Given the description of an element on the screen output the (x, y) to click on. 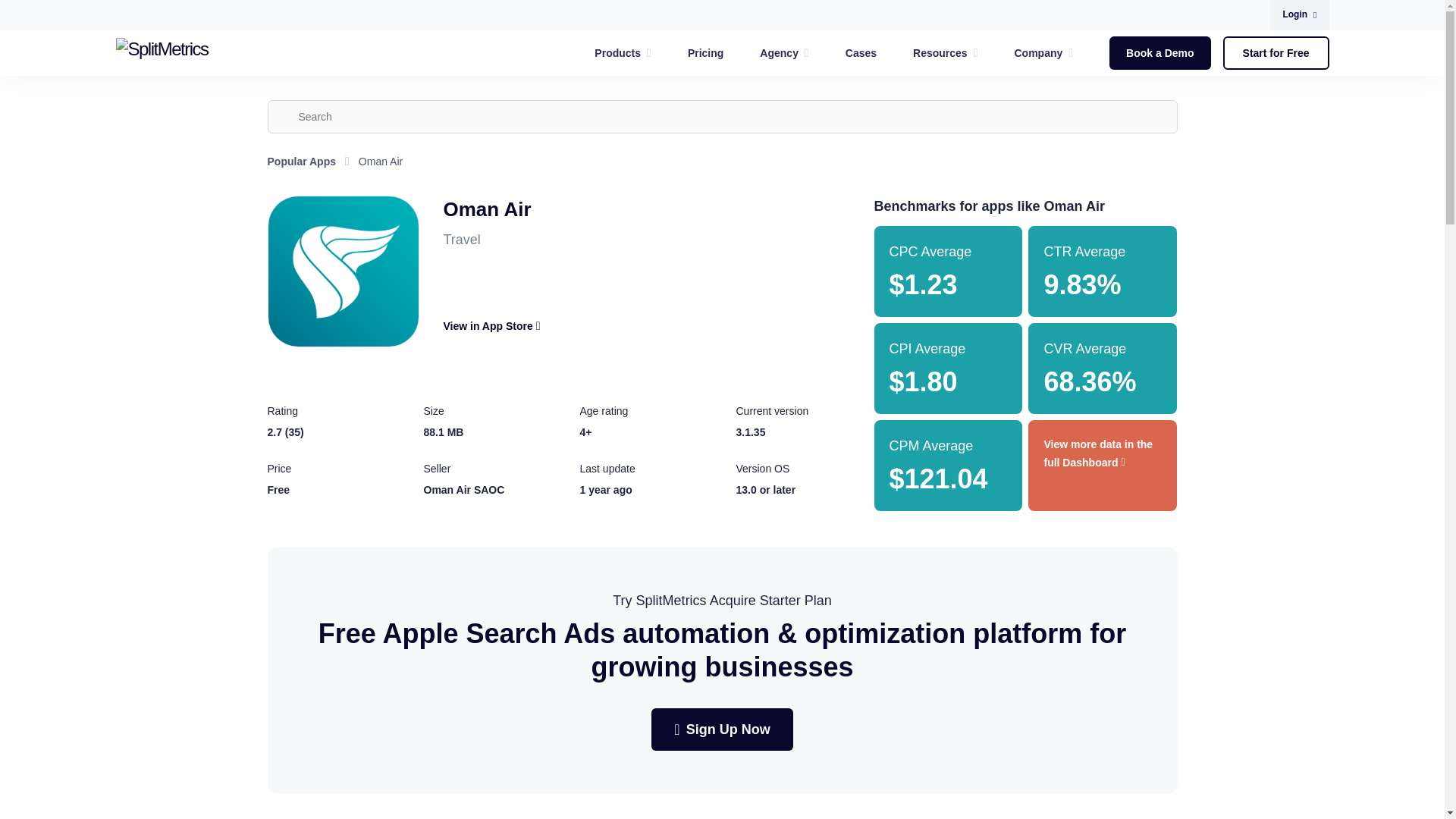
Start for Free (1276, 52)
Company (1042, 53)
Products (622, 53)
Resources (945, 53)
Book a Demo (1159, 52)
Pricing (705, 53)
Agency (784, 53)
Login (1298, 15)
Cases (861, 53)
